Given the description of an element on the screen output the (x, y) to click on. 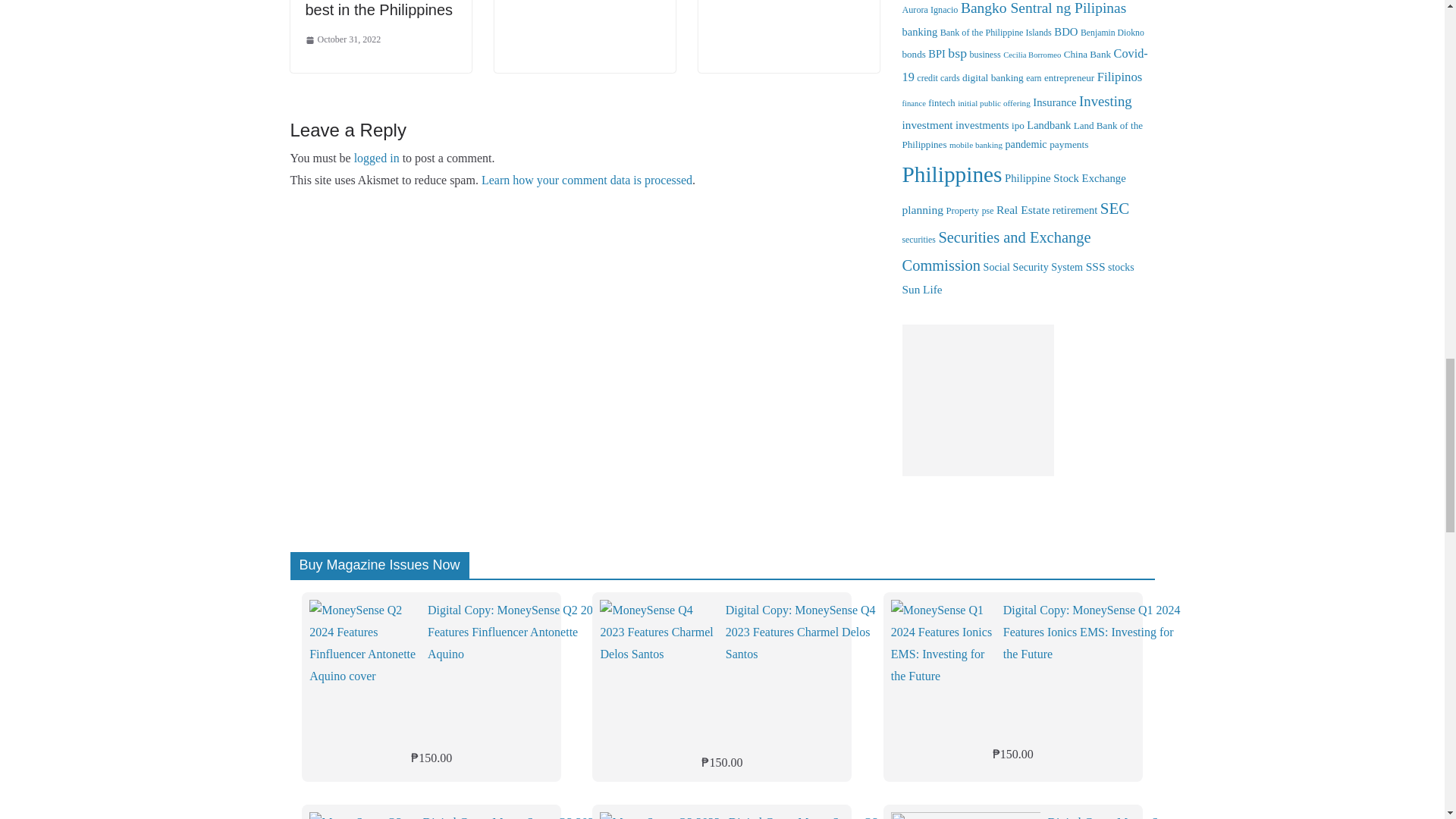
5:02 pm (342, 39)
